Given the description of an element on the screen output the (x, y) to click on. 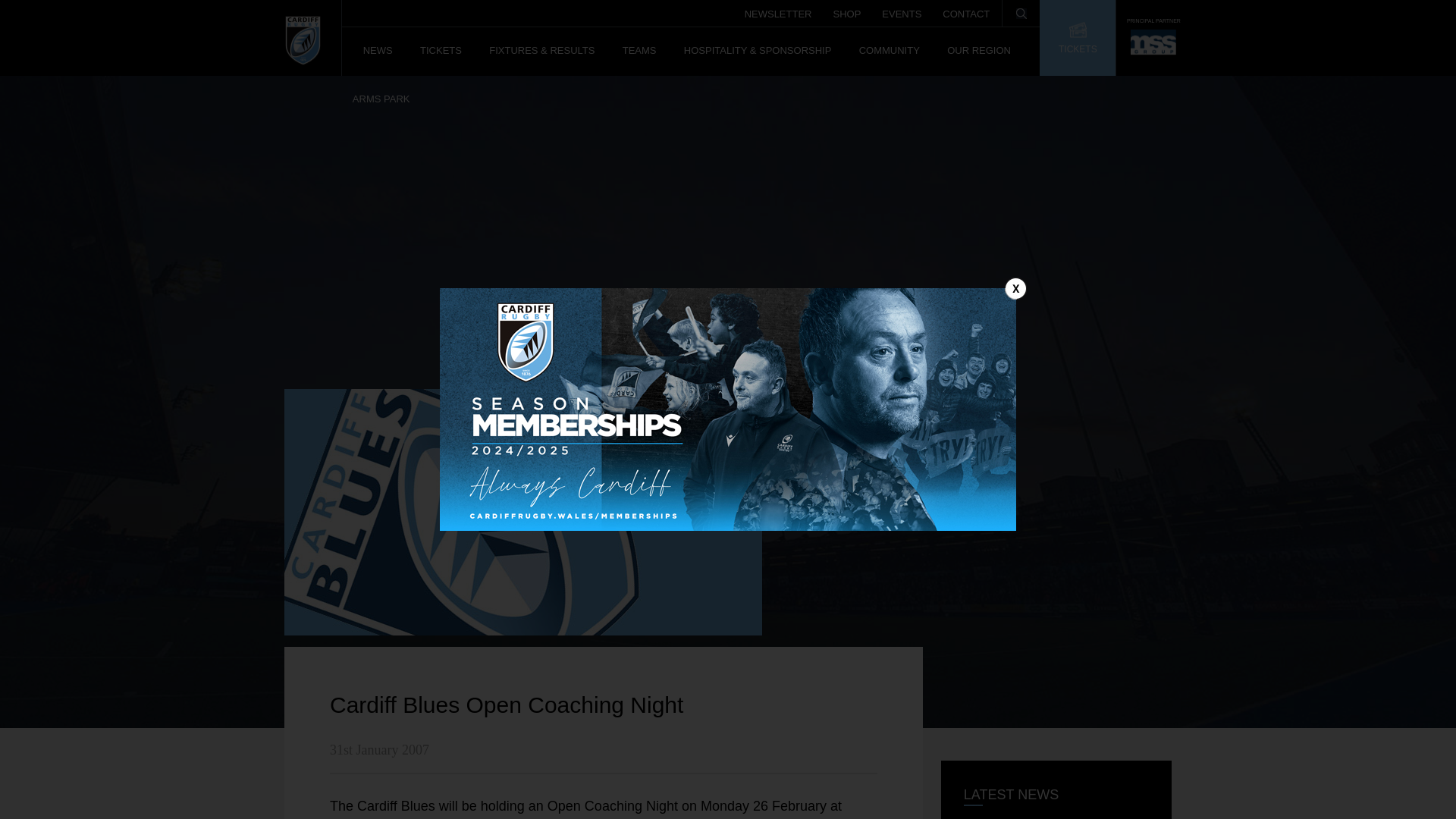
CONTACT (966, 9)
EVENTS (901, 9)
NEWSLETTER (778, 9)
SHOP (846, 9)
